Given the description of an element on the screen output the (x, y) to click on. 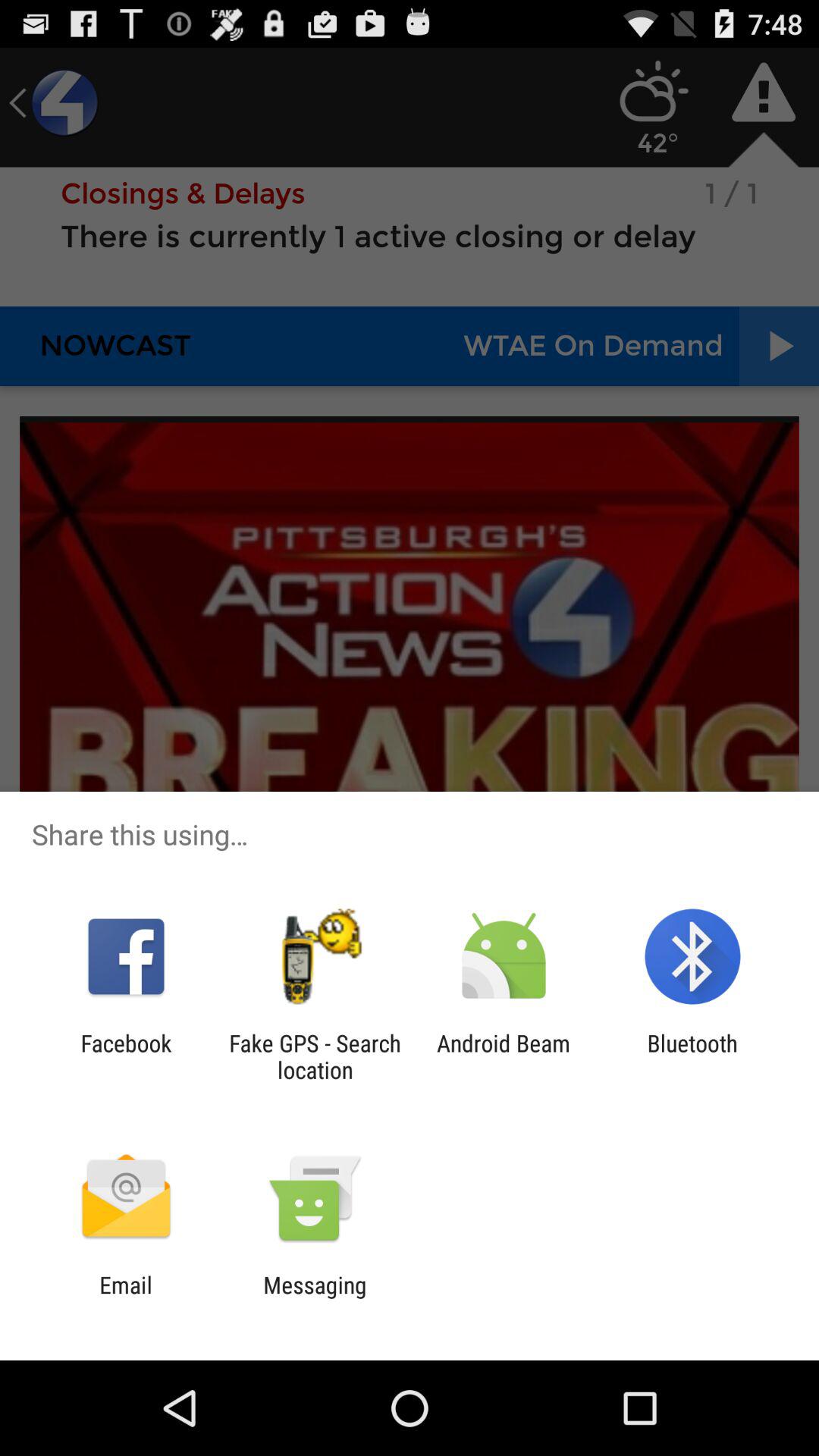
turn off item next to the fake gps search (503, 1056)
